Given the description of an element on the screen output the (x, y) to click on. 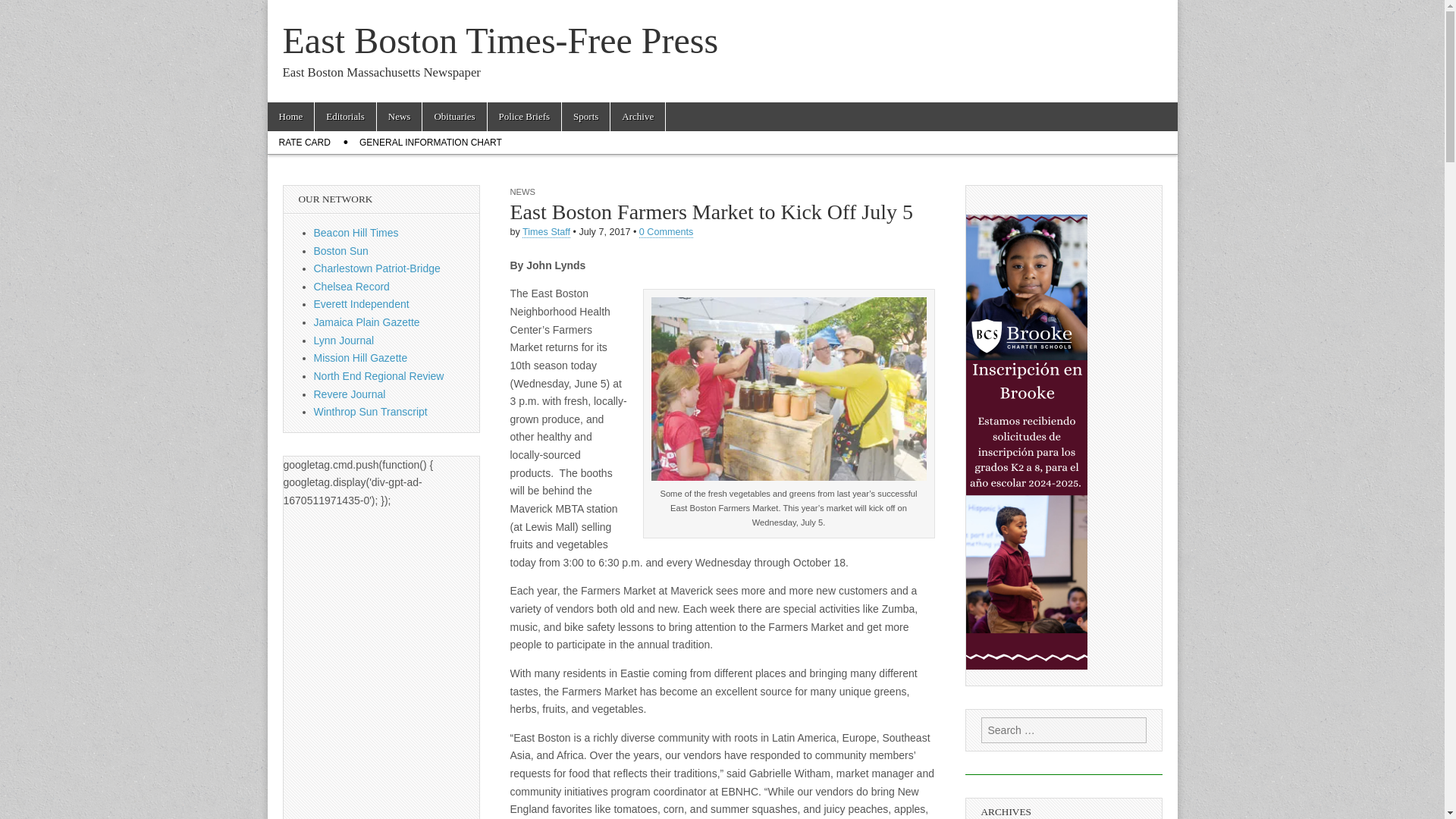
Home (290, 116)
Posts by Times Staff (546, 232)
Revere Journal (349, 394)
East Boston Times-Free Press (499, 40)
Boston Sun (341, 250)
Editorials (344, 116)
Winthrop Sun Transcript (371, 411)
Jamaica Plain Gazette (367, 322)
News (399, 116)
Times Staff (546, 232)
Obituaries (454, 116)
Sports (586, 116)
NEWS (522, 191)
0 Comments (666, 232)
Archive (637, 116)
